Given the description of an element on the screen output the (x, y) to click on. 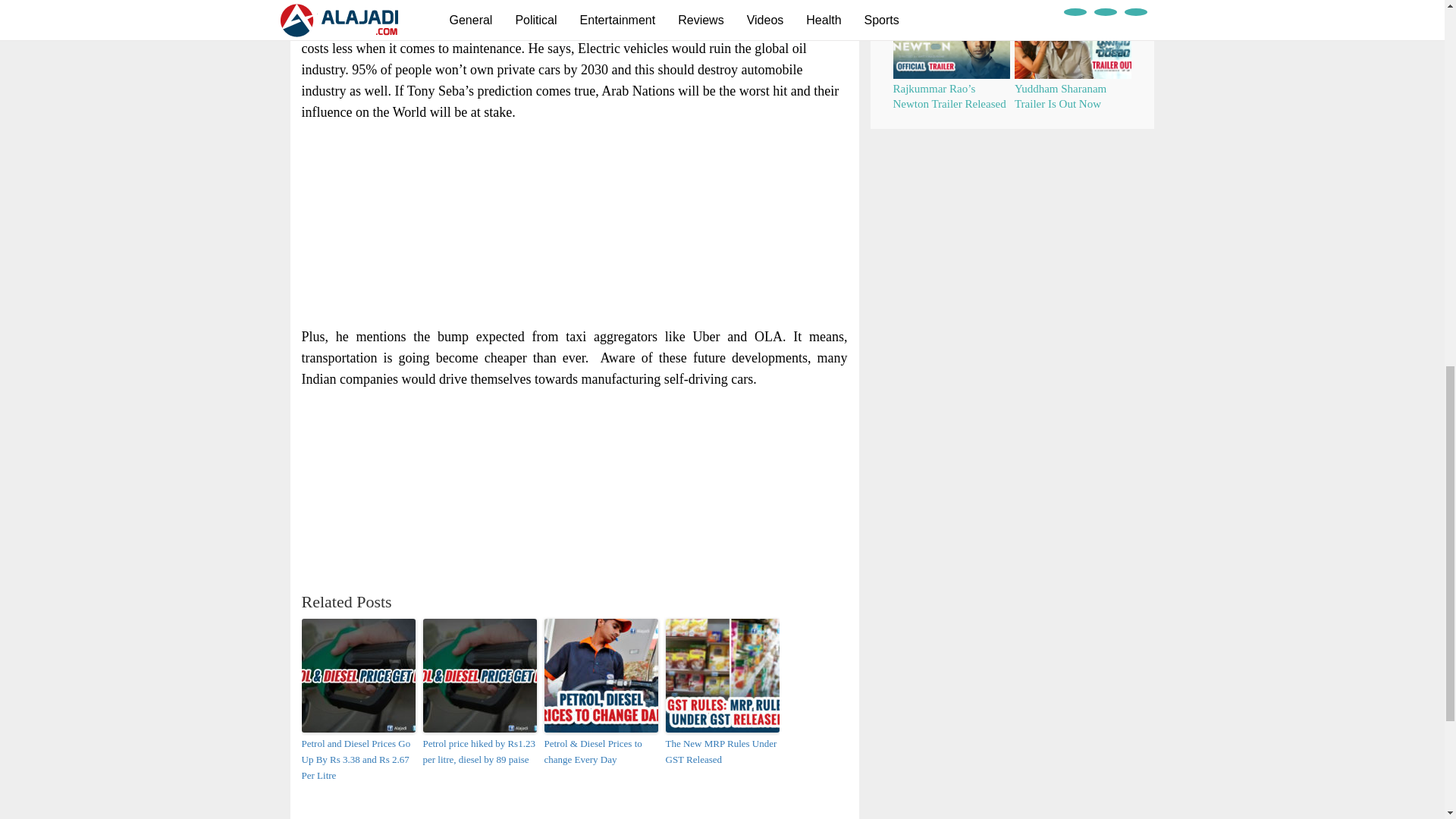
Advertisement (574, 492)
The New MRP Rules Under GST Released (721, 752)
Yuddham Sharanam Trailer Is Out Now (1060, 95)
Advertisement (574, 225)
Petrol price hiked by Rs1.23 per litre, diesel by 89 paise (480, 752)
